Given the description of an element on the screen output the (x, y) to click on. 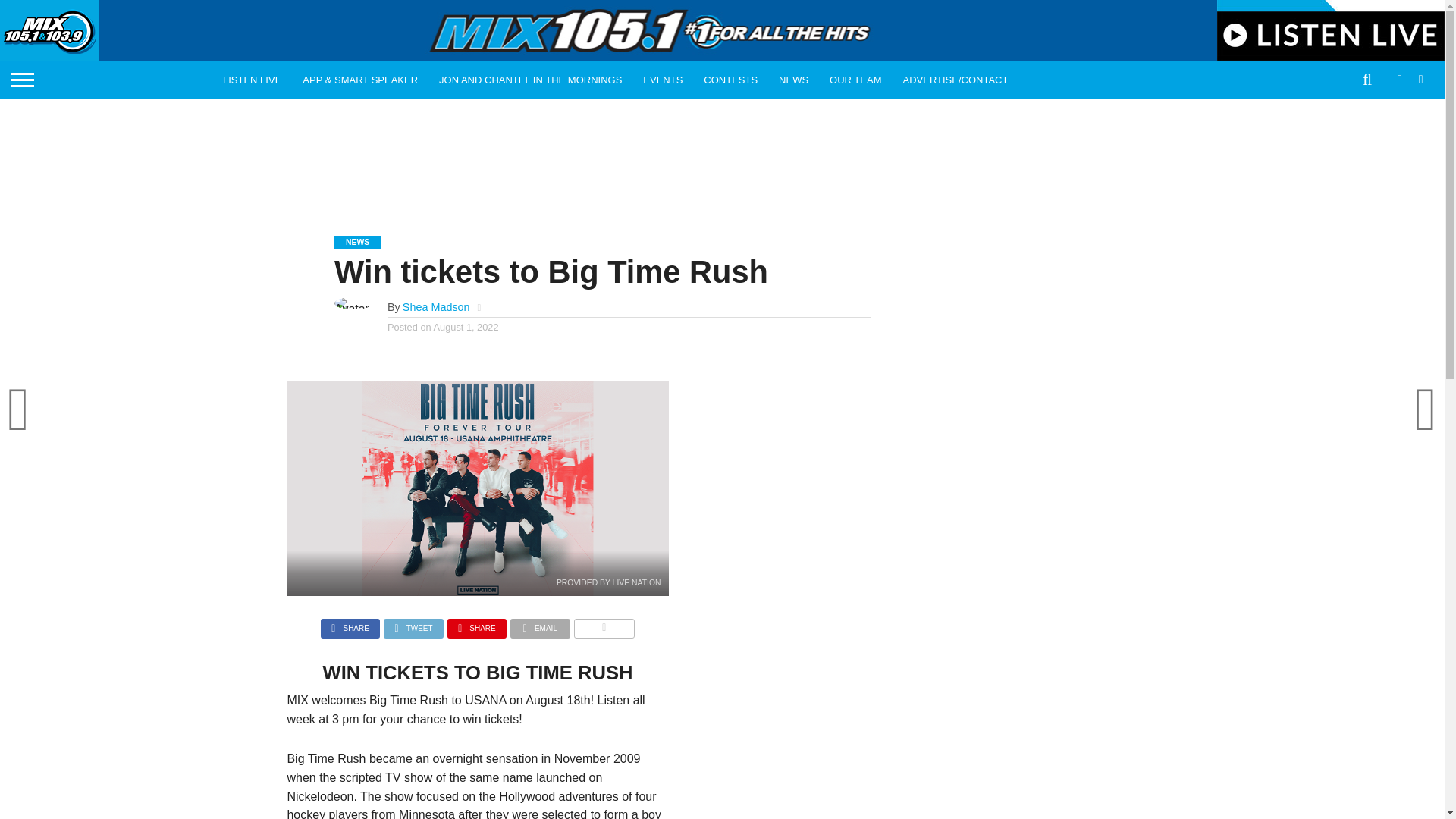
Advertisement (721, 156)
Shea Madson (436, 306)
JON AND CHANTEL IN THE MORNINGS (529, 79)
NEWS (793, 79)
EMAIL (540, 624)
Share on Facebook (350, 624)
Tweet This Post (414, 624)
Posts by Shea Madson (436, 306)
LISTEN LIVE (252, 79)
OUR TEAM (854, 79)
TWEET (414, 624)
SHARE (476, 624)
SHARE (350, 624)
EVENTS (662, 79)
Pin This Post (476, 624)
